Given the description of an element on the screen output the (x, y) to click on. 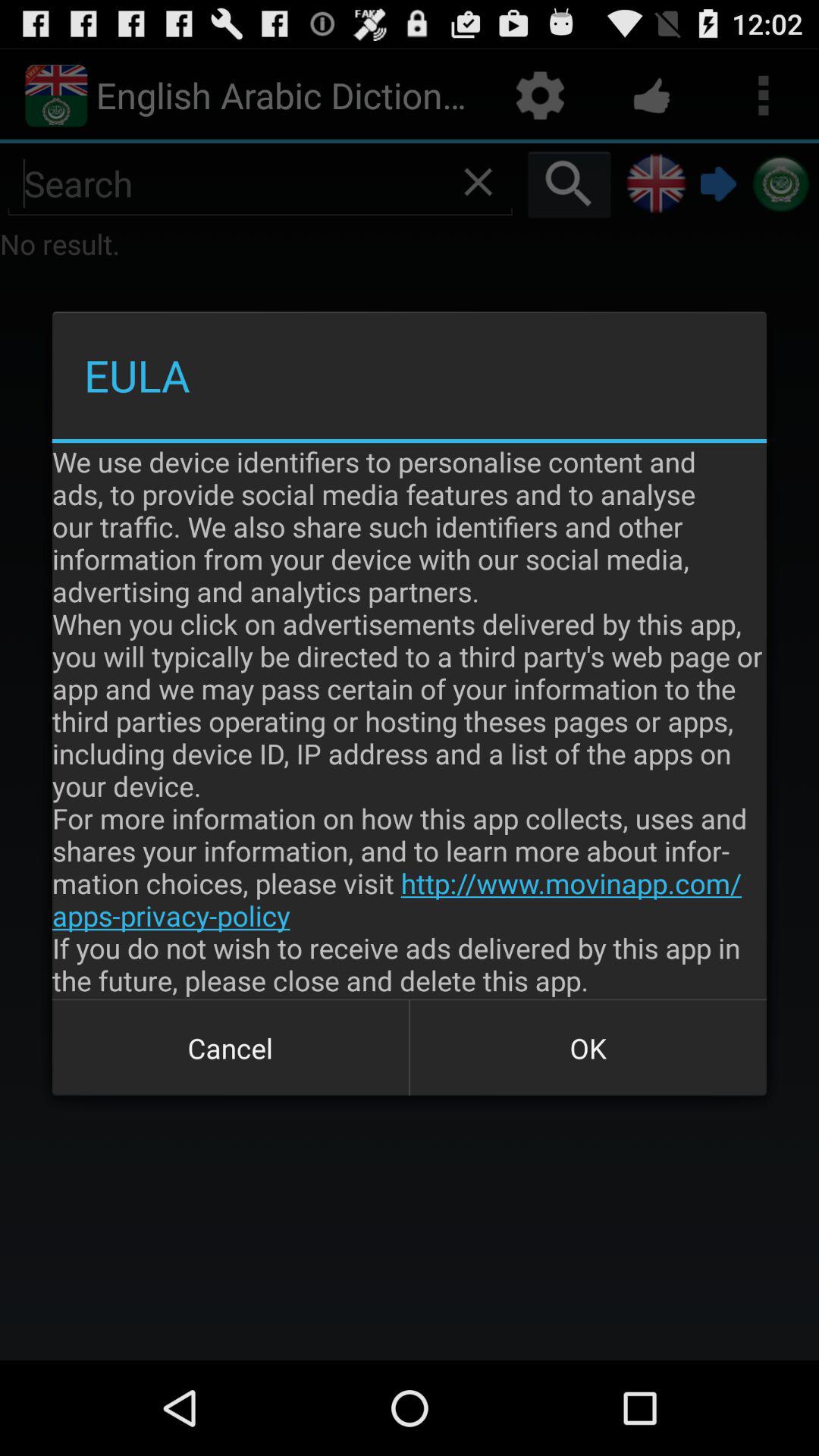
turn on the we use device app (409, 721)
